Given the description of an element on the screen output the (x, y) to click on. 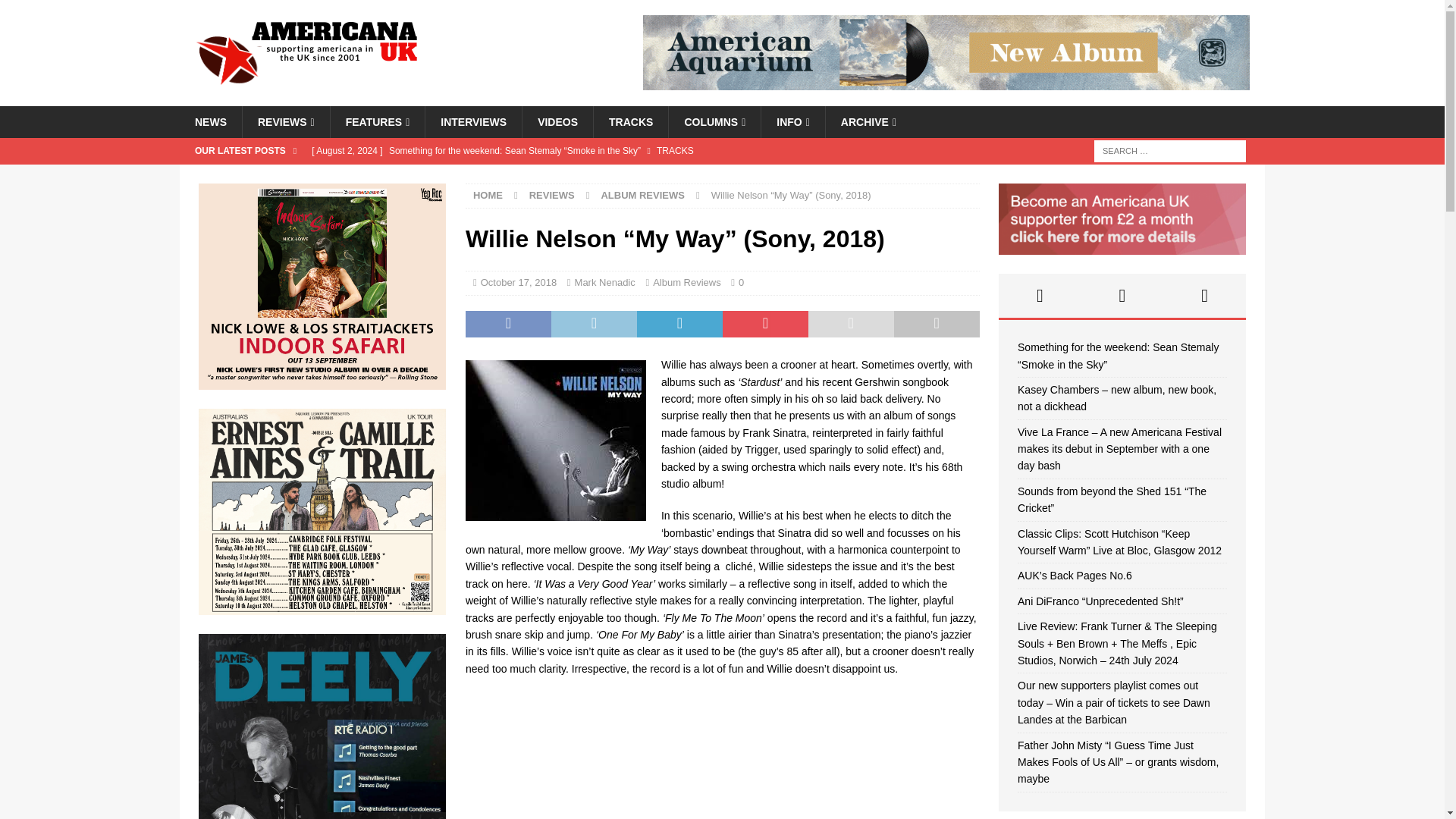
REVIEWS (285, 122)
INTERVIEWS (473, 122)
FEATURES (377, 122)
TRACKS (630, 122)
INFO (792, 122)
My Way by Willie Nelson (722, 755)
ARCHIVE (868, 122)
VIDEOS (556, 122)
COLUMNS (714, 122)
NEWS (210, 122)
